Given the description of an element on the screen output the (x, y) to click on. 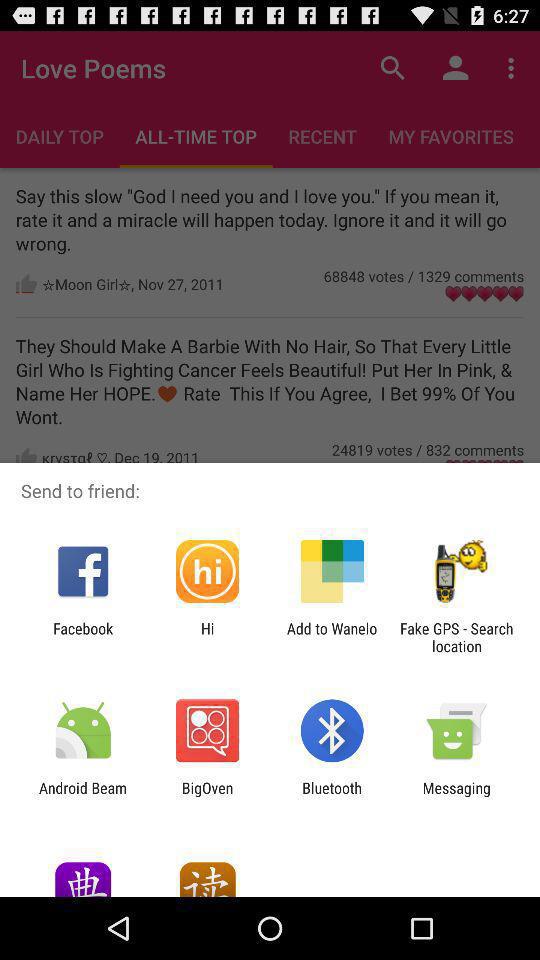
tap the item next to the android beam (207, 796)
